Given the description of an element on the screen output the (x, y) to click on. 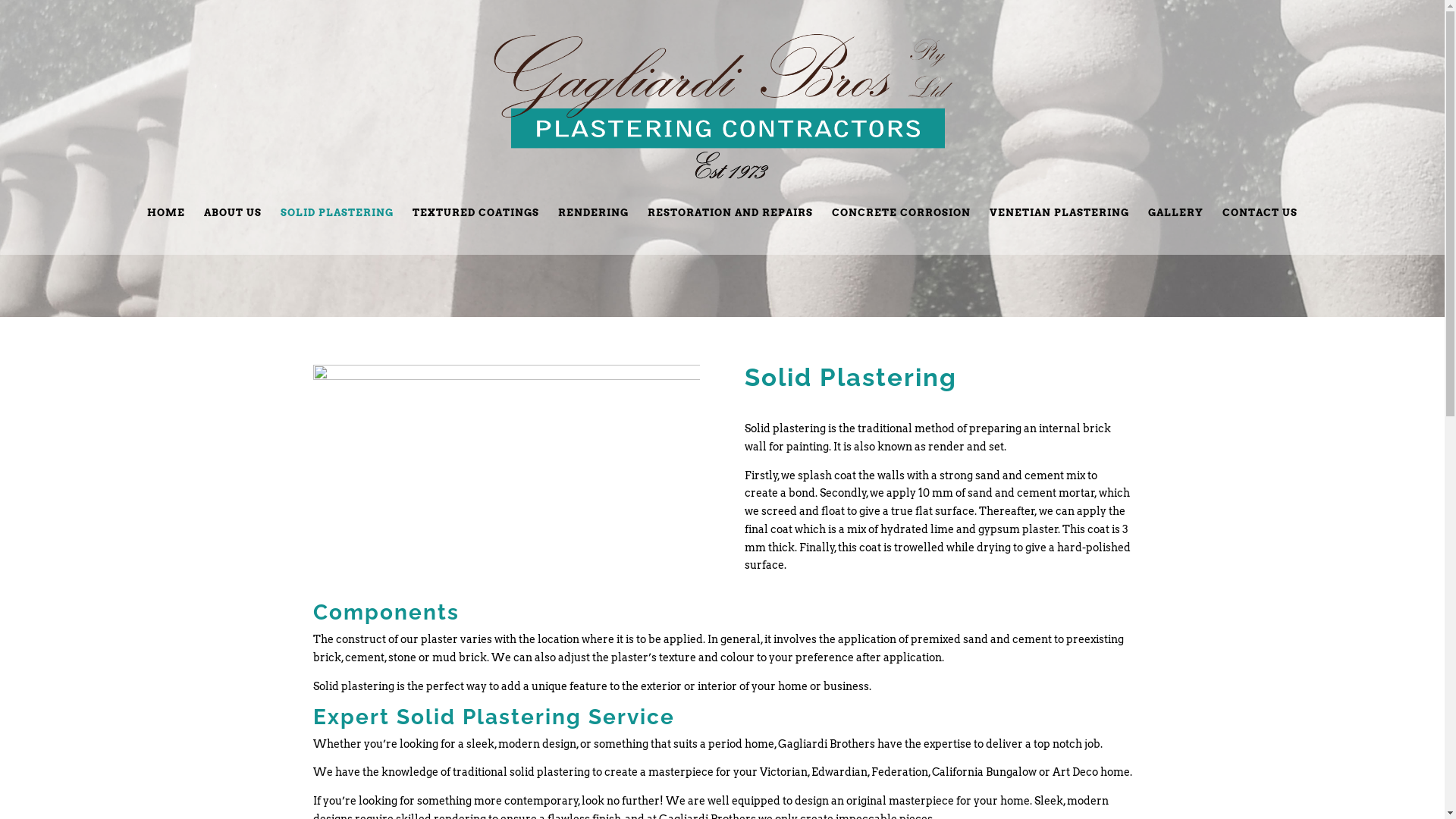
CONTACT US Element type: text (1259, 230)
CONCRETE CORROSION Element type: text (900, 230)
RESTORATION AND REPAIRS Element type: text (729, 230)
GALLERY Element type: text (1175, 230)
SOLID PLASTERING Element type: text (336, 230)
TEXTURED COATINGS Element type: text (475, 230)
RENDERING Element type: text (593, 230)
ABOUT US Element type: text (232, 230)
HOME Element type: text (166, 230)
VENETIAN PLASTERING Element type: text (1059, 230)
